Given the description of an element on the screen output the (x, y) to click on. 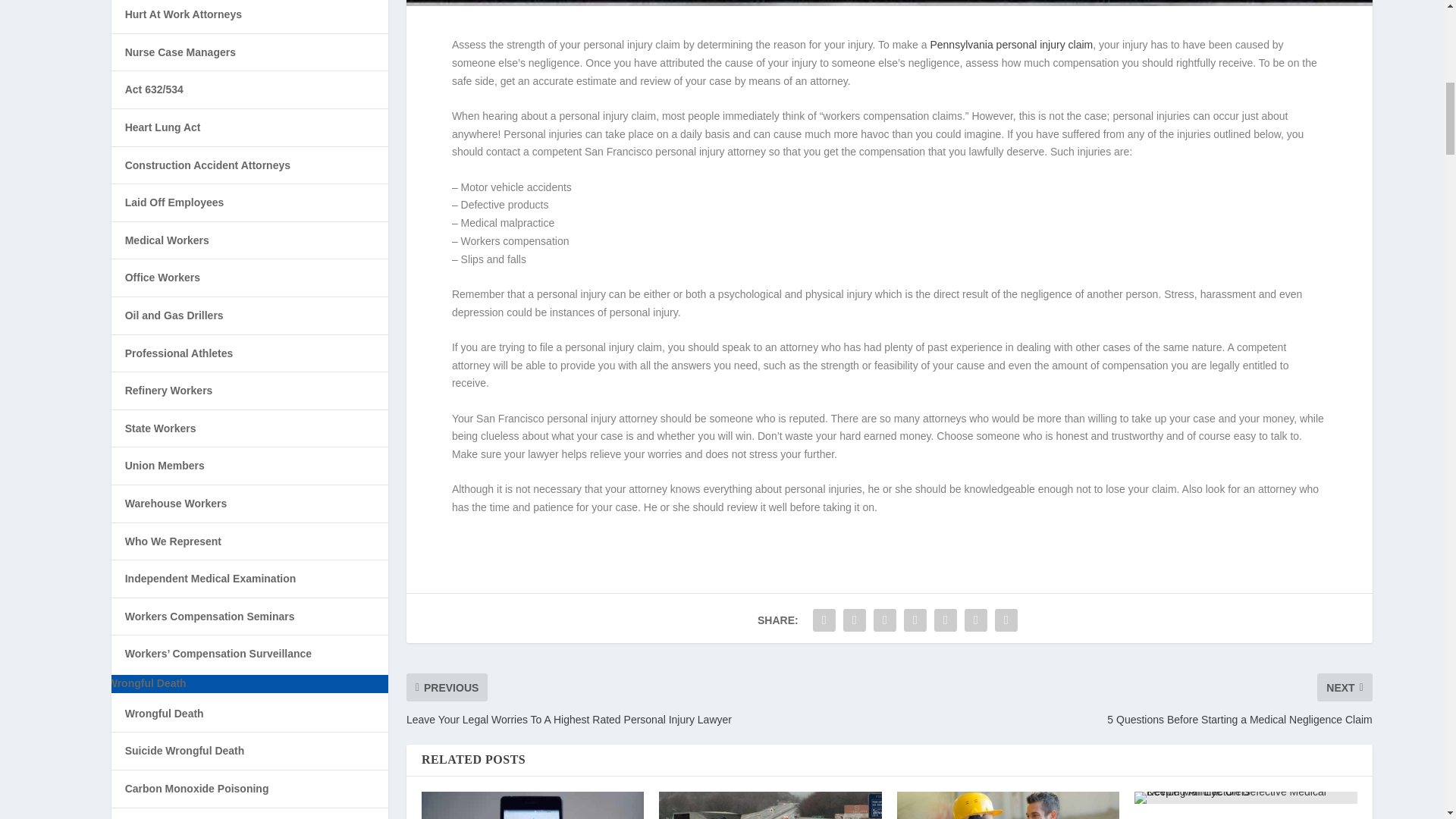
Keeping An Eye On Defective Medical Device Manufacturers (1245, 797)
What Causes a Tractor Trailer Accident? (769, 805)
What Rights Do Injured Construction Workers Have? (1007, 805)
